Given the description of an element on the screen output the (x, y) to click on. 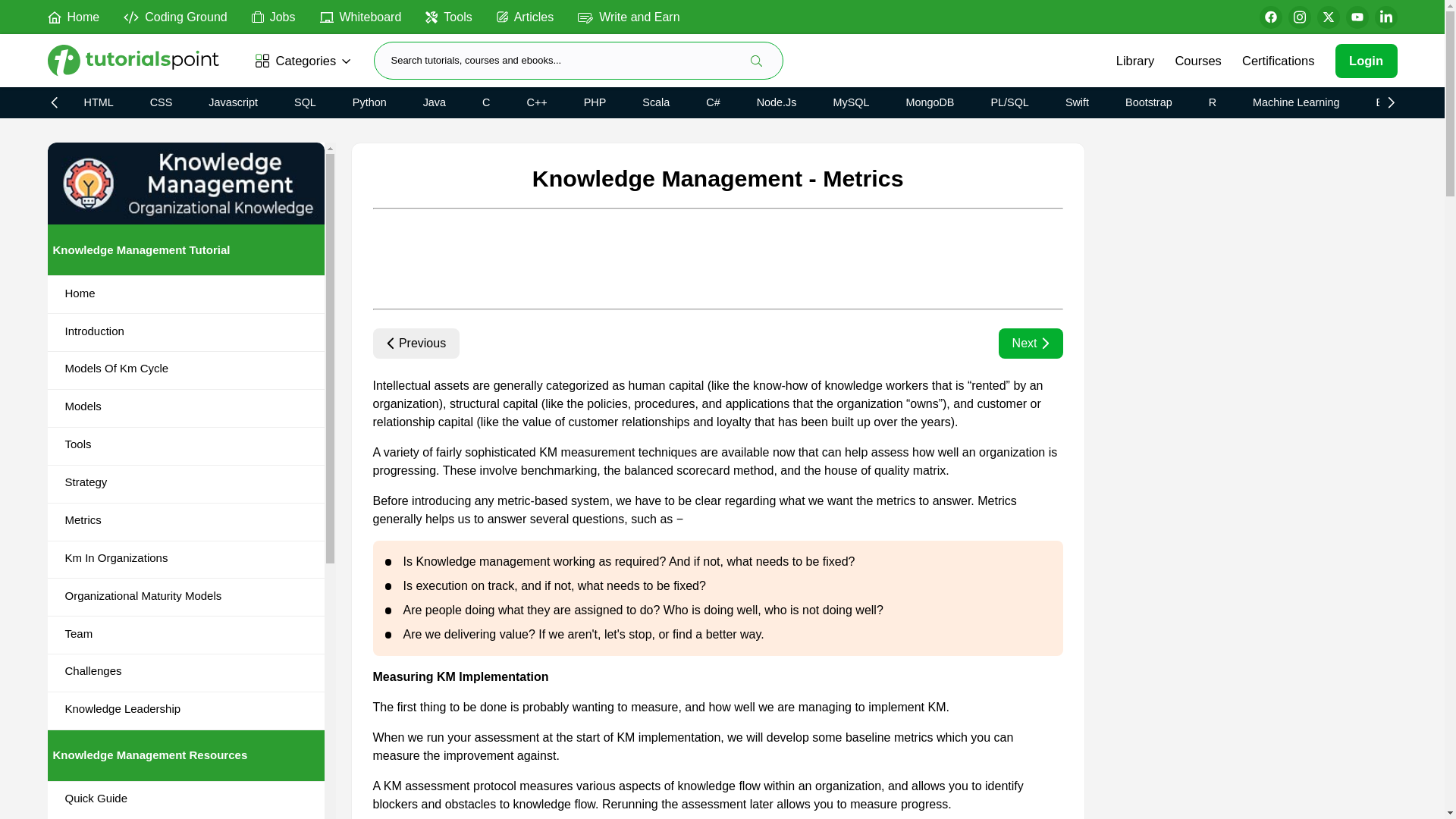
Whiteboard (360, 16)
Articles (524, 16)
Subscribe to our Youtube Channel (1356, 16)
Home (72, 16)
Tutorialspoint (138, 60)
Categories (303, 60)
Follow on Facebook (1270, 16)
Tools (448, 16)
Follow on LinkedIn (1385, 16)
Follow on Instagram (1298, 16)
